Given the description of an element on the screen output the (x, y) to click on. 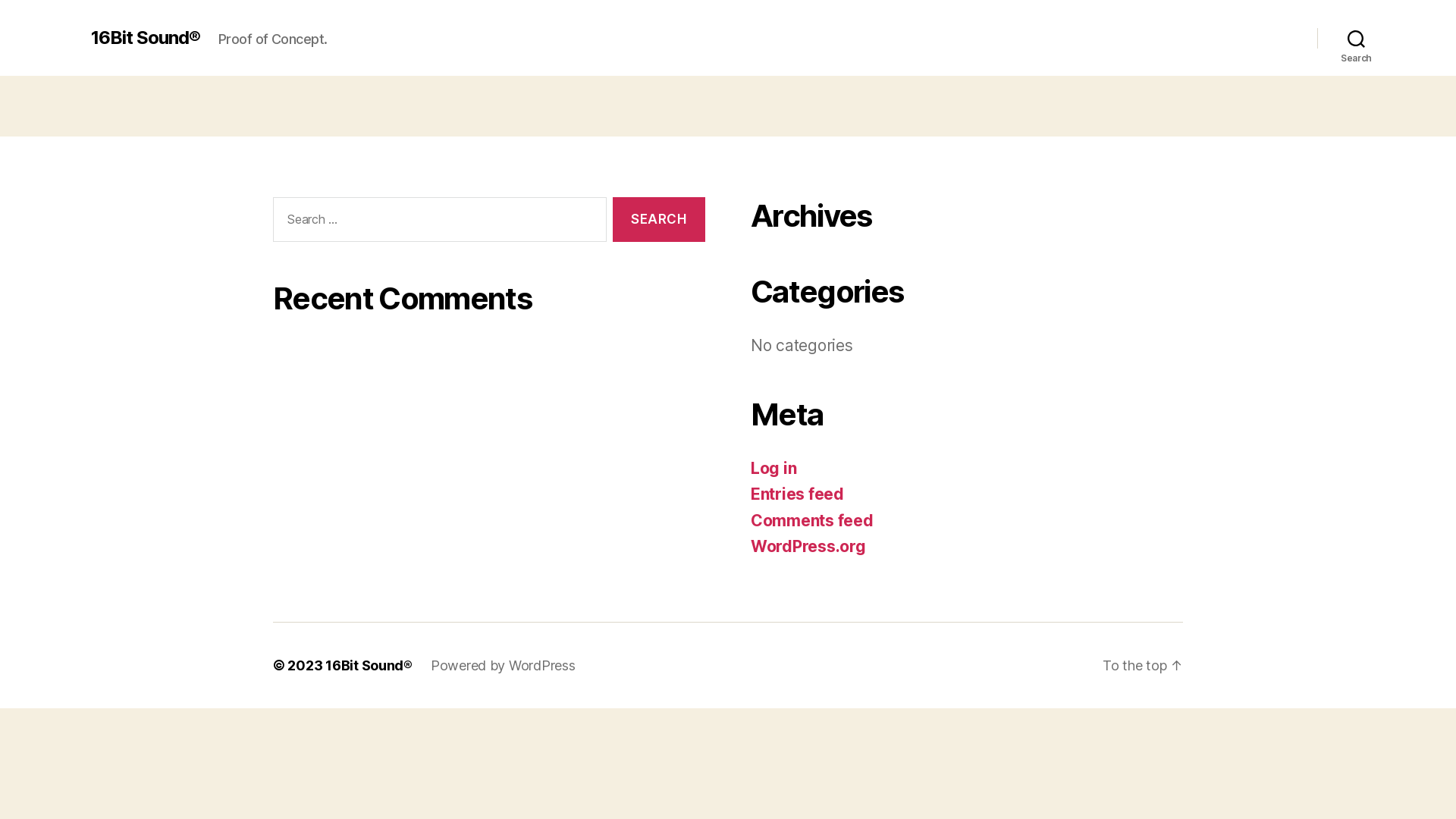
Comments feed Element type: text (811, 520)
Search Element type: text (1356, 37)
Log in Element type: text (773, 467)
Powered by WordPress Element type: text (502, 664)
Search Element type: text (658, 219)
WordPress.org Element type: text (808, 545)
Entries feed Element type: text (797, 493)
